Given the description of an element on the screen output the (x, y) to click on. 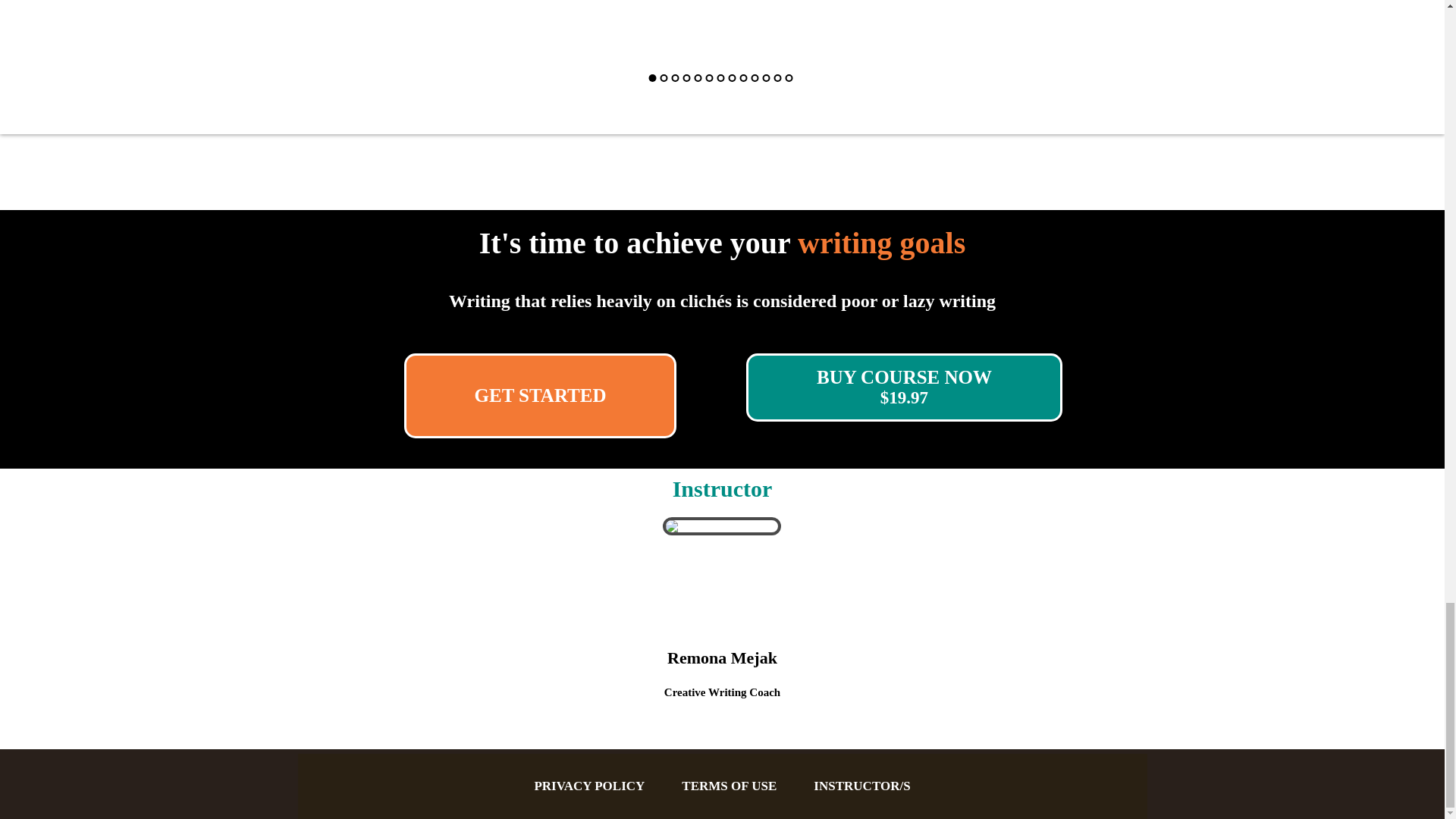
GET STARTED (540, 395)
